Given the description of an element on the screen output the (x, y) to click on. 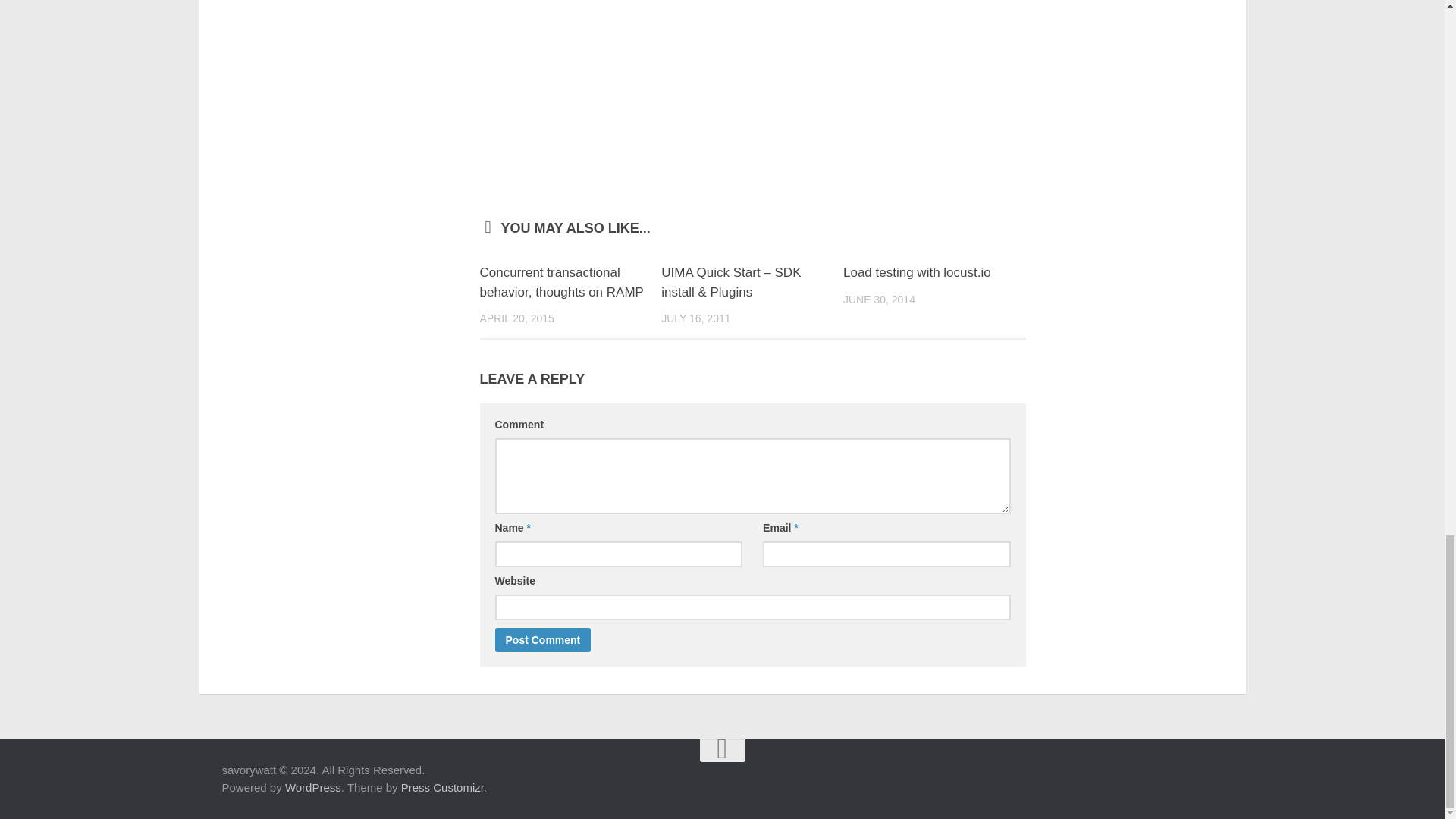
Load testing with locust.io (917, 272)
Concurrent transactional behavior, thoughts on RAMP (561, 282)
Post Comment (543, 639)
Concurrent transactional behavior, thoughts on RAMP (561, 282)
Post Comment (543, 639)
Load testing with locust.io (917, 272)
